Given the description of an element on the screen output the (x, y) to click on. 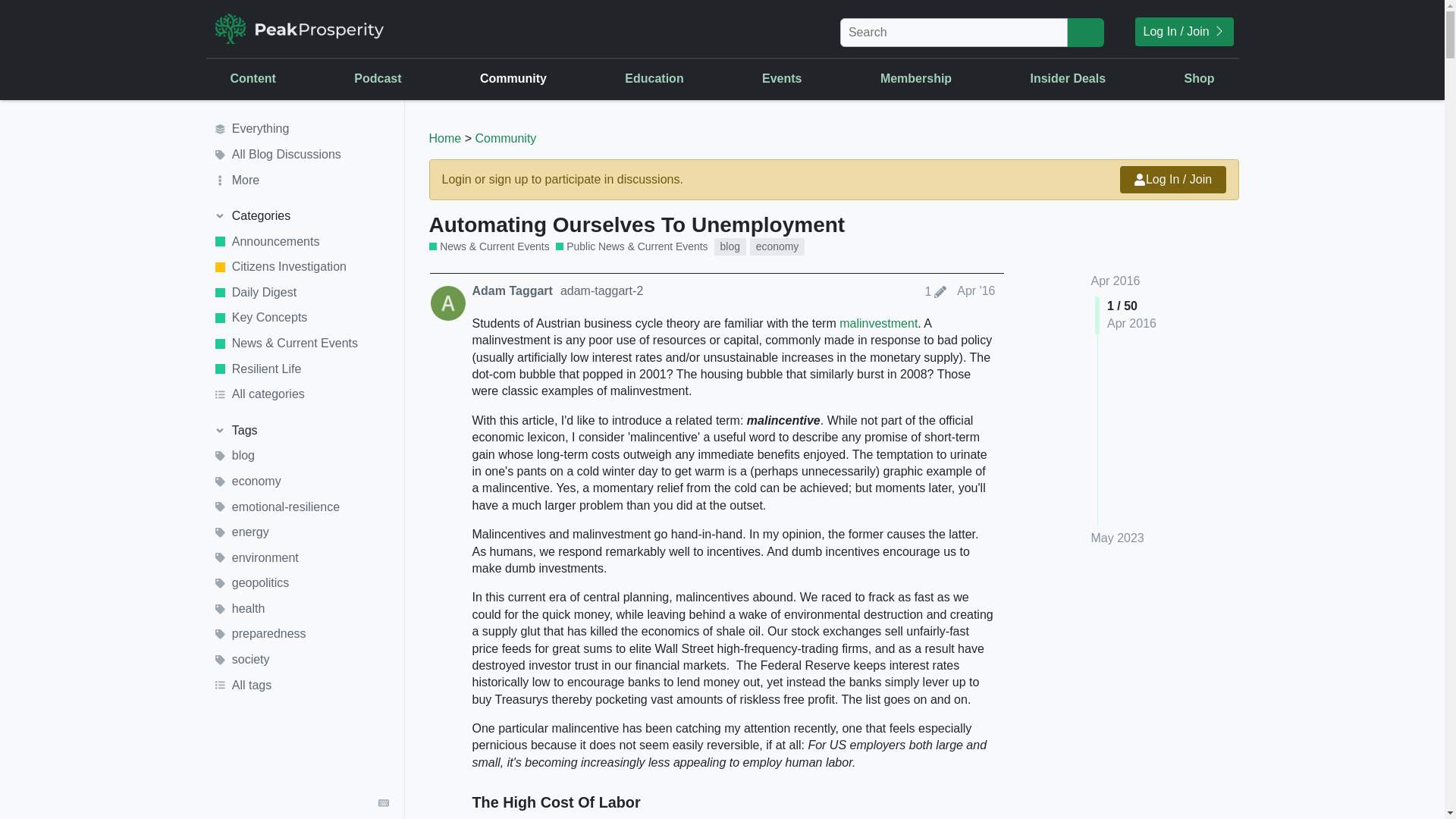
preparedness (301, 634)
All Content (388, 265)
Everything (301, 129)
Podcast (377, 78)
emotional-resilience (301, 507)
environment (301, 557)
More (301, 180)
Citizens Investigation (301, 267)
blog (729, 246)
blog (301, 456)
Daily Digest (301, 292)
Community (504, 137)
Forum (638, 178)
Automating Ourselves To Unemployment (637, 224)
Community (513, 78)
